Given the description of an element on the screen output the (x, y) to click on. 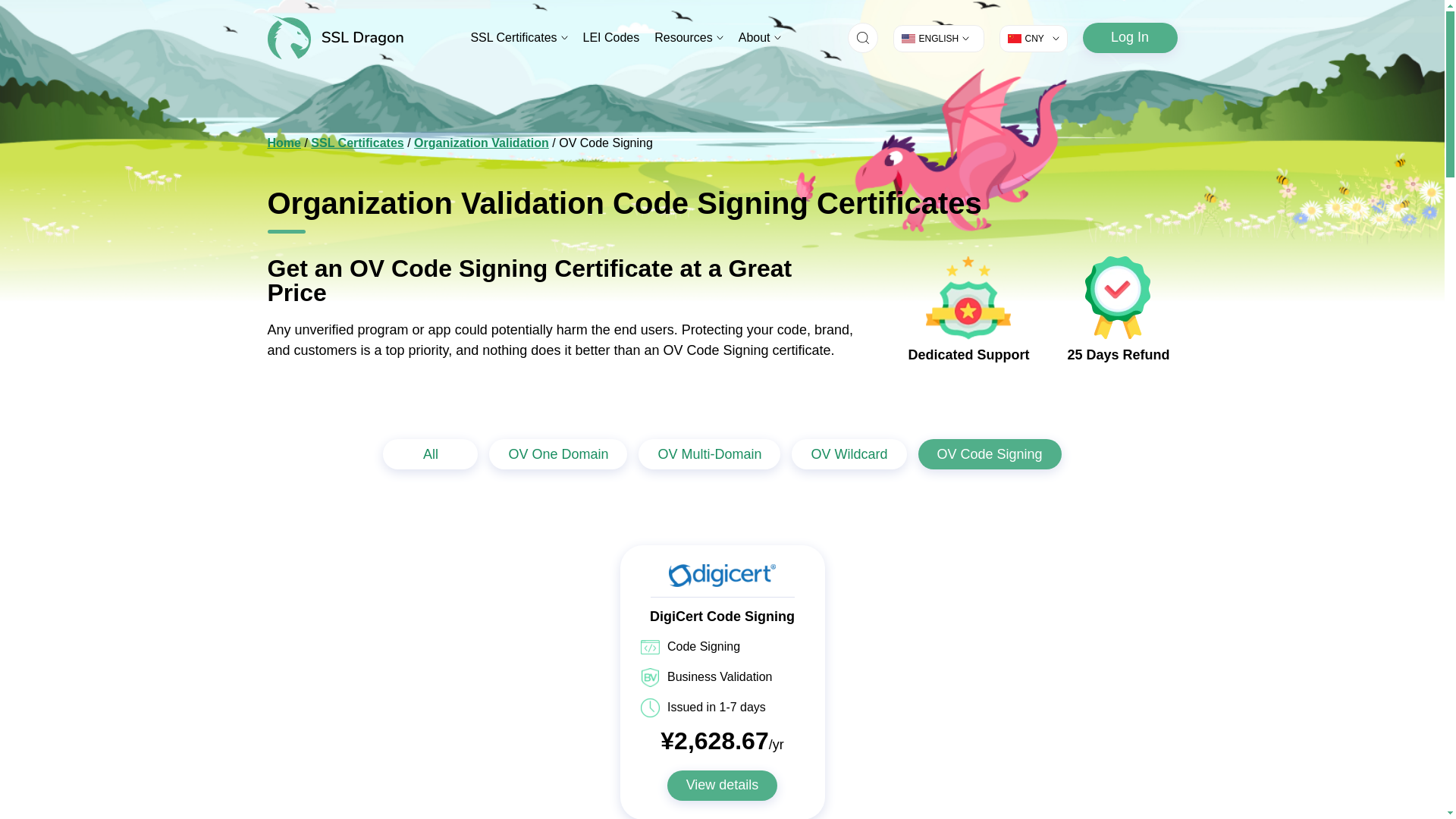
Resources (688, 37)
LEI Codes (611, 37)
SSL Dragon Logo (334, 37)
SSL Certificates (519, 37)
